Given the description of an element on the screen output the (x, y) to click on. 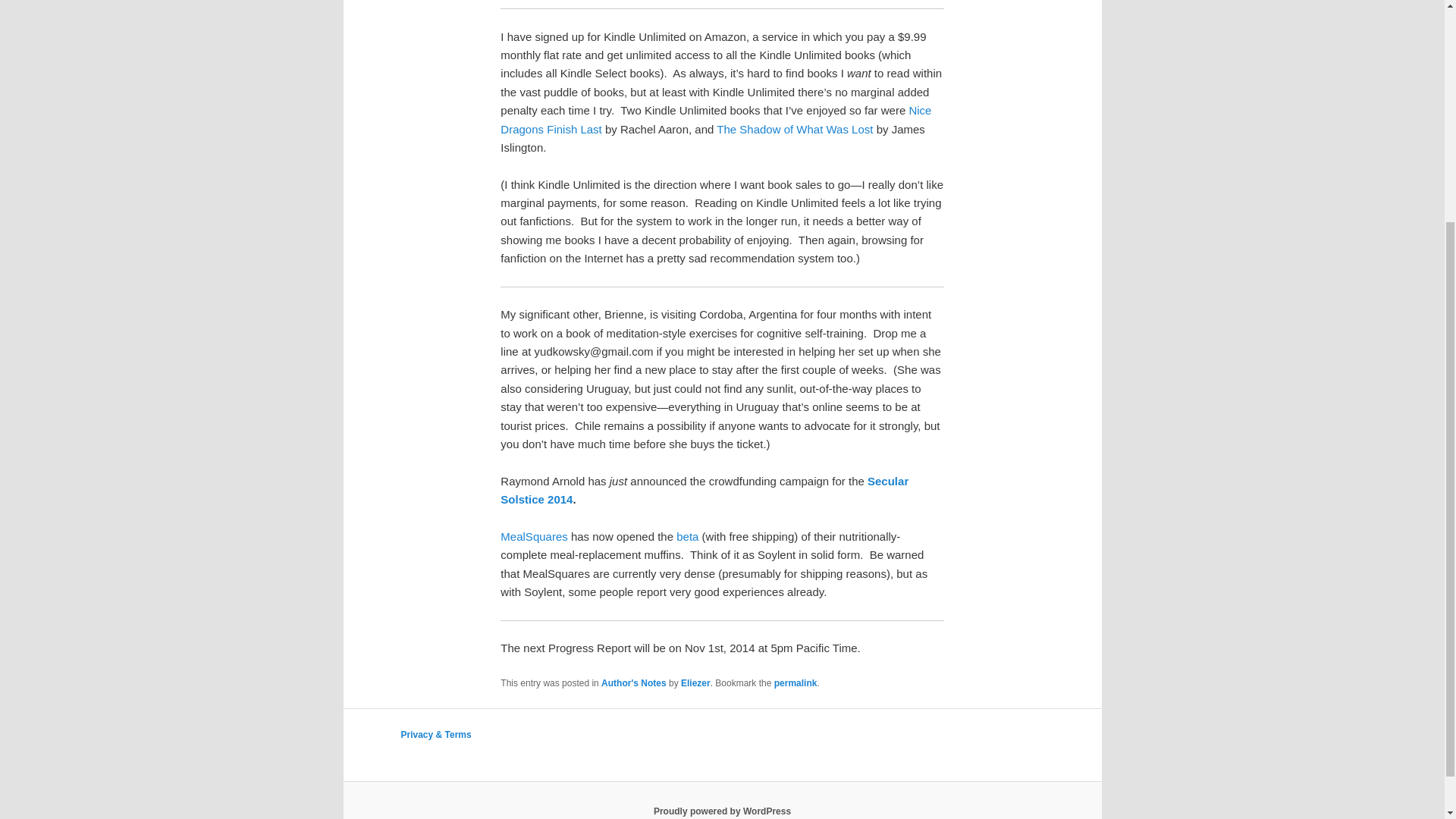
Secular Solstice 2014 (704, 490)
Permalink to Progress Report, Oct 2014 (795, 683)
The Shadow of What Was Lost (794, 128)
Proudly powered by WordPress (721, 810)
Nice Dragons Finish Last (715, 119)
MealSquares (535, 535)
permalink (795, 683)
Eliezer (695, 683)
Author's Notes (633, 683)
beta (687, 535)
Semantic Personal Publishing Platform (721, 810)
